Given the description of an element on the screen output the (x, y) to click on. 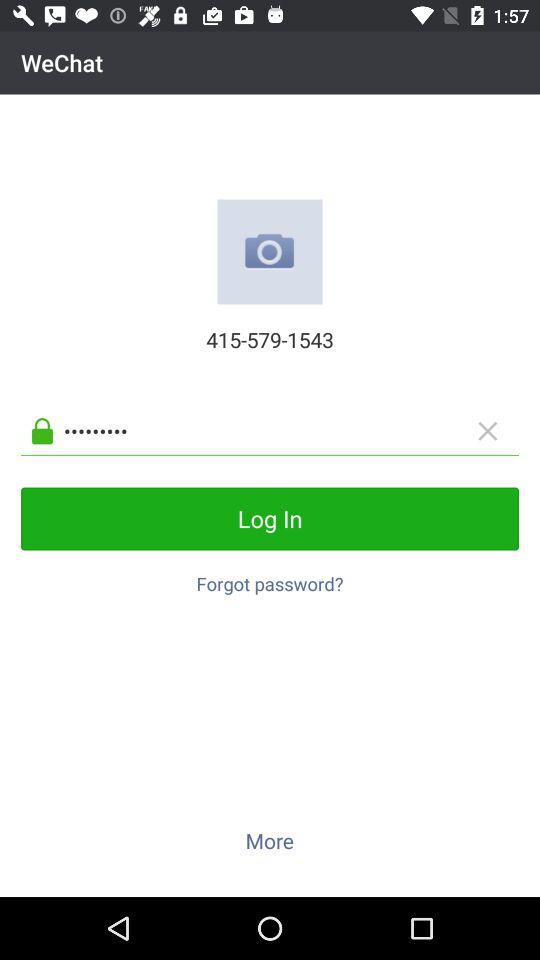
swipe to the forgot password? item (269, 578)
